Given the description of an element on the screen output the (x, y) to click on. 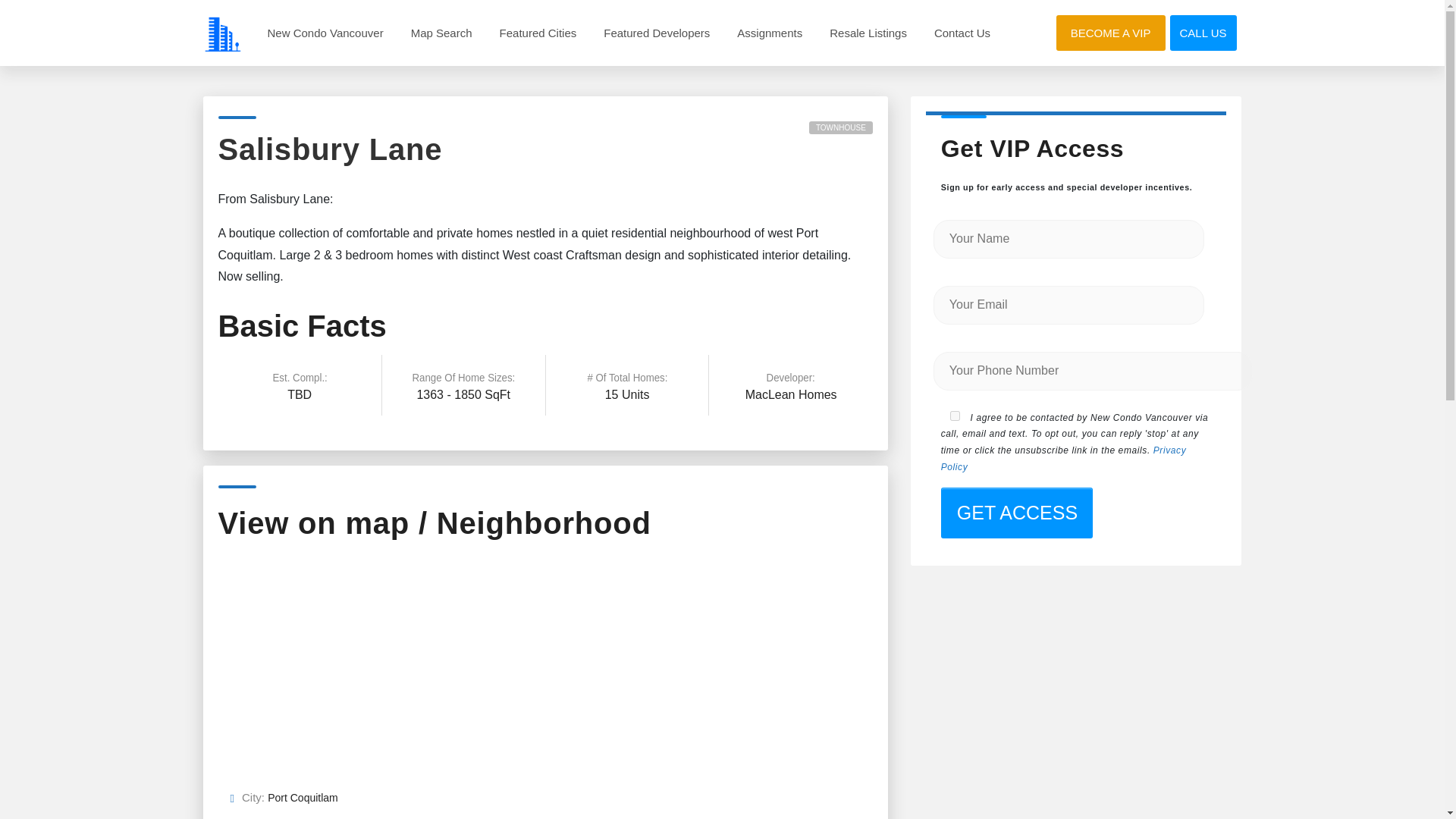
Map Search (441, 32)
Map Search (441, 32)
TOWNHOUSE (840, 127)
GET ACCESS (1016, 512)
Call Us (1203, 32)
Featured Developers (656, 32)
GET ACCESS (1016, 512)
Assignments (769, 32)
CALL US (1203, 32)
Featured Developers (656, 32)
BECOME A VIP (1110, 32)
Featured Cities (538, 32)
Privacy Policy (1063, 458)
Become a VIP (1110, 32)
Featured Cities (538, 32)
